Given the description of an element on the screen output the (x, y) to click on. 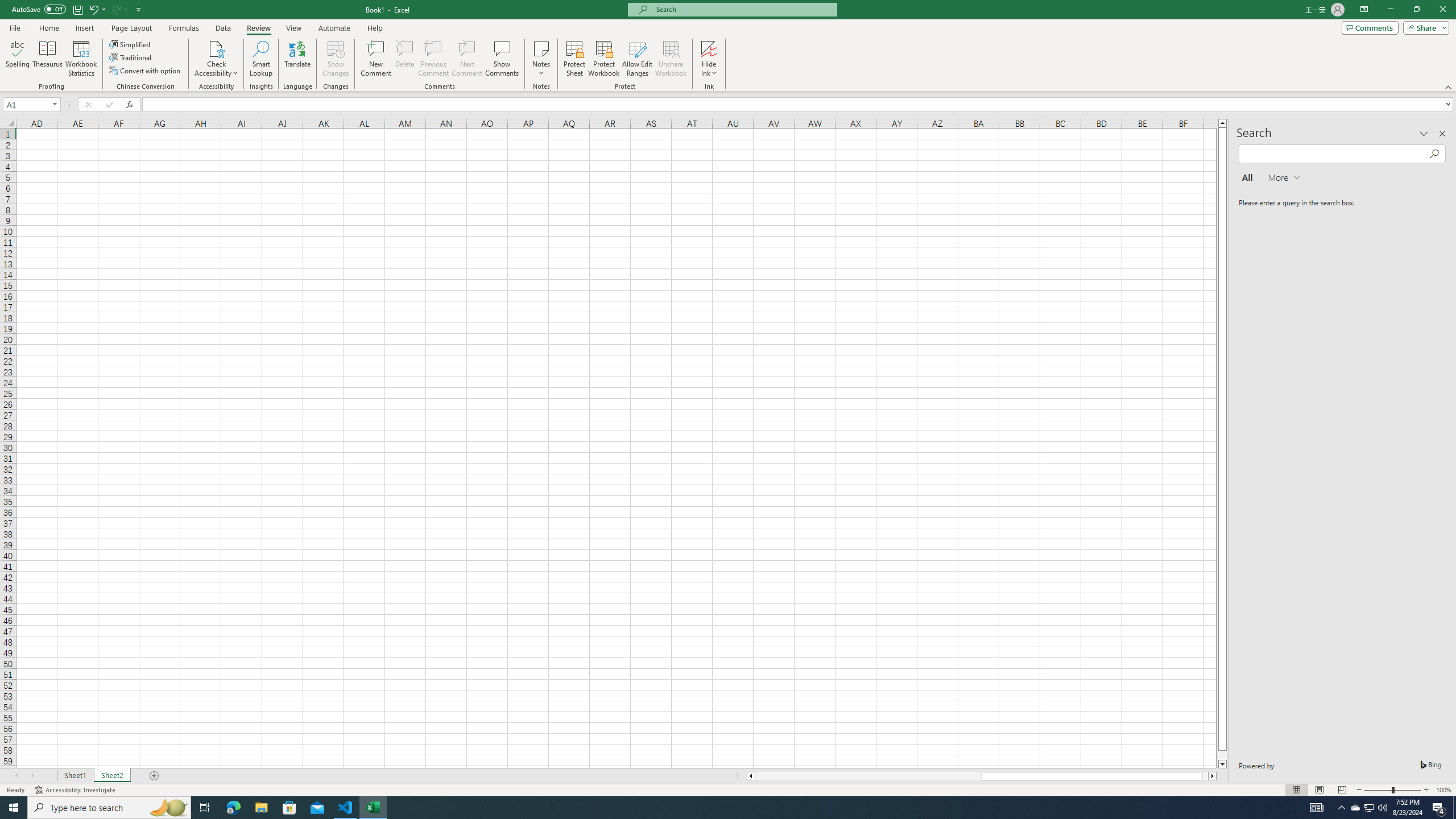
Previous Comment (432, 58)
Traditional (131, 56)
Next Comment (466, 58)
